Given the description of an element on the screen output the (x, y) to click on. 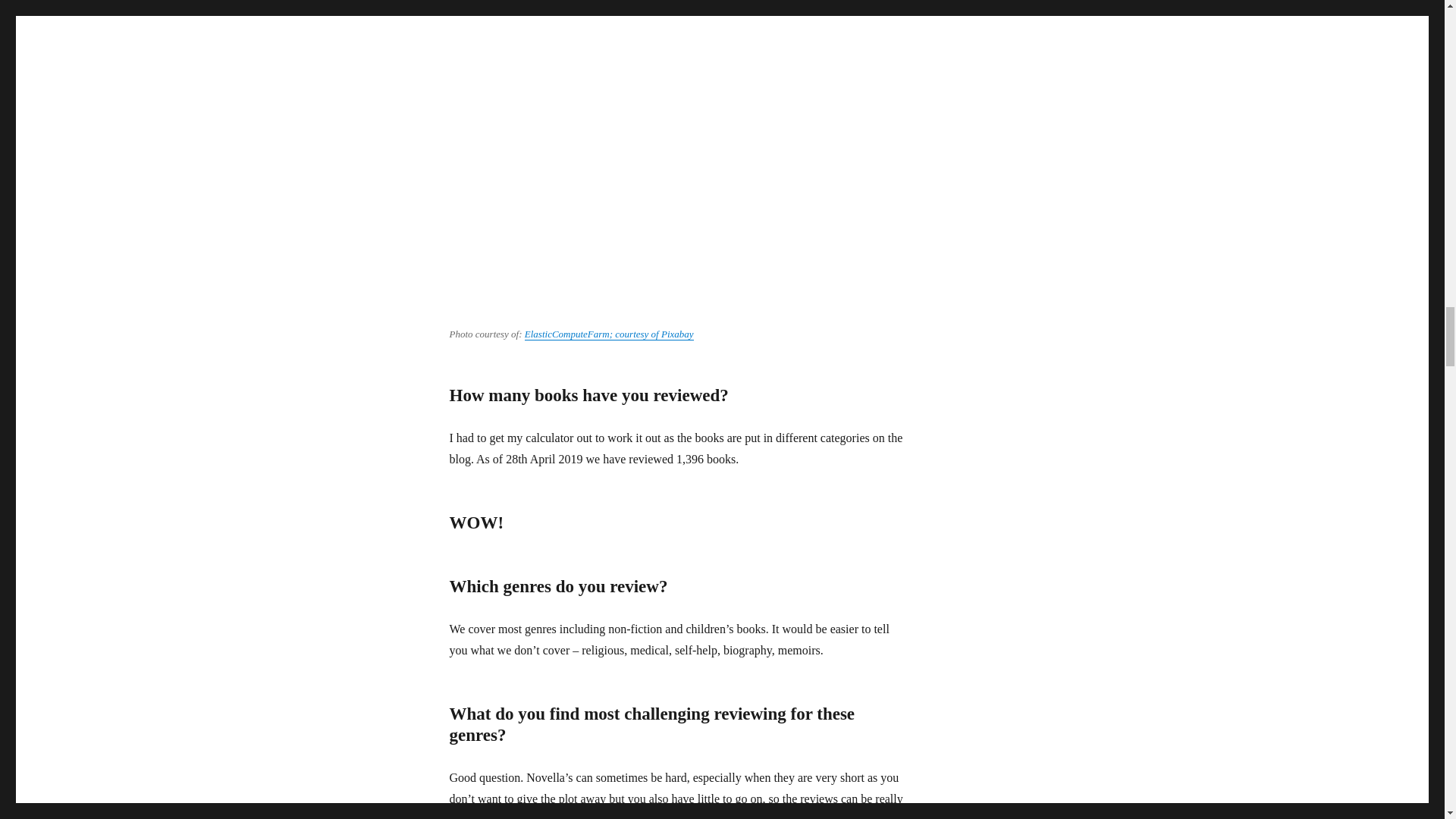
ElasticComputeFarm; courtesy of Pixabay (609, 333)
